Given the description of an element on the screen output the (x, y) to click on. 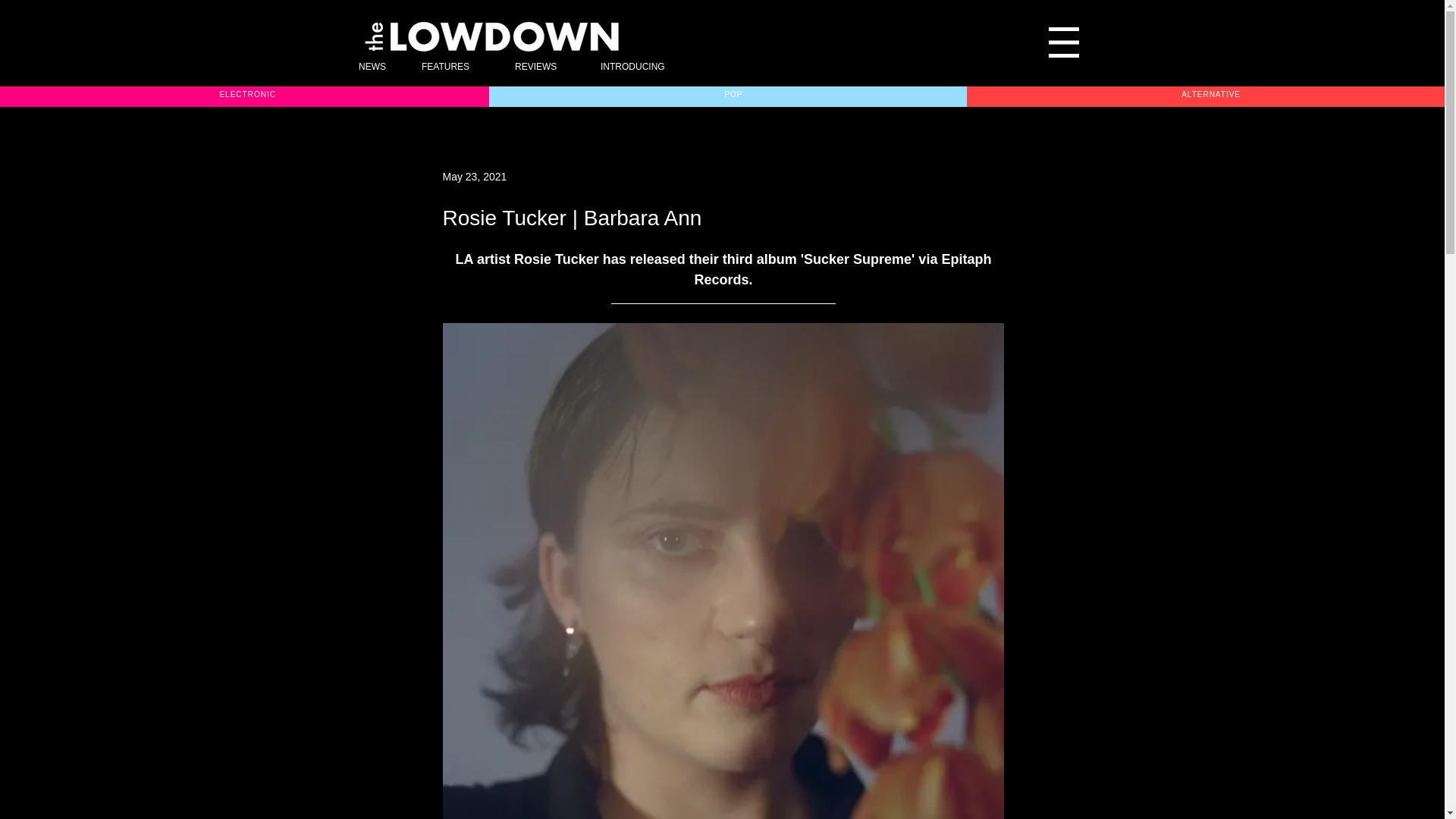
ALTERNATIVE (1210, 94)
INTRODUCING (649, 66)
FEATURES (456, 66)
May 23, 2021 (474, 175)
REVIEWS (546, 66)
NEWS (378, 66)
